Given the description of an element on the screen output the (x, y) to click on. 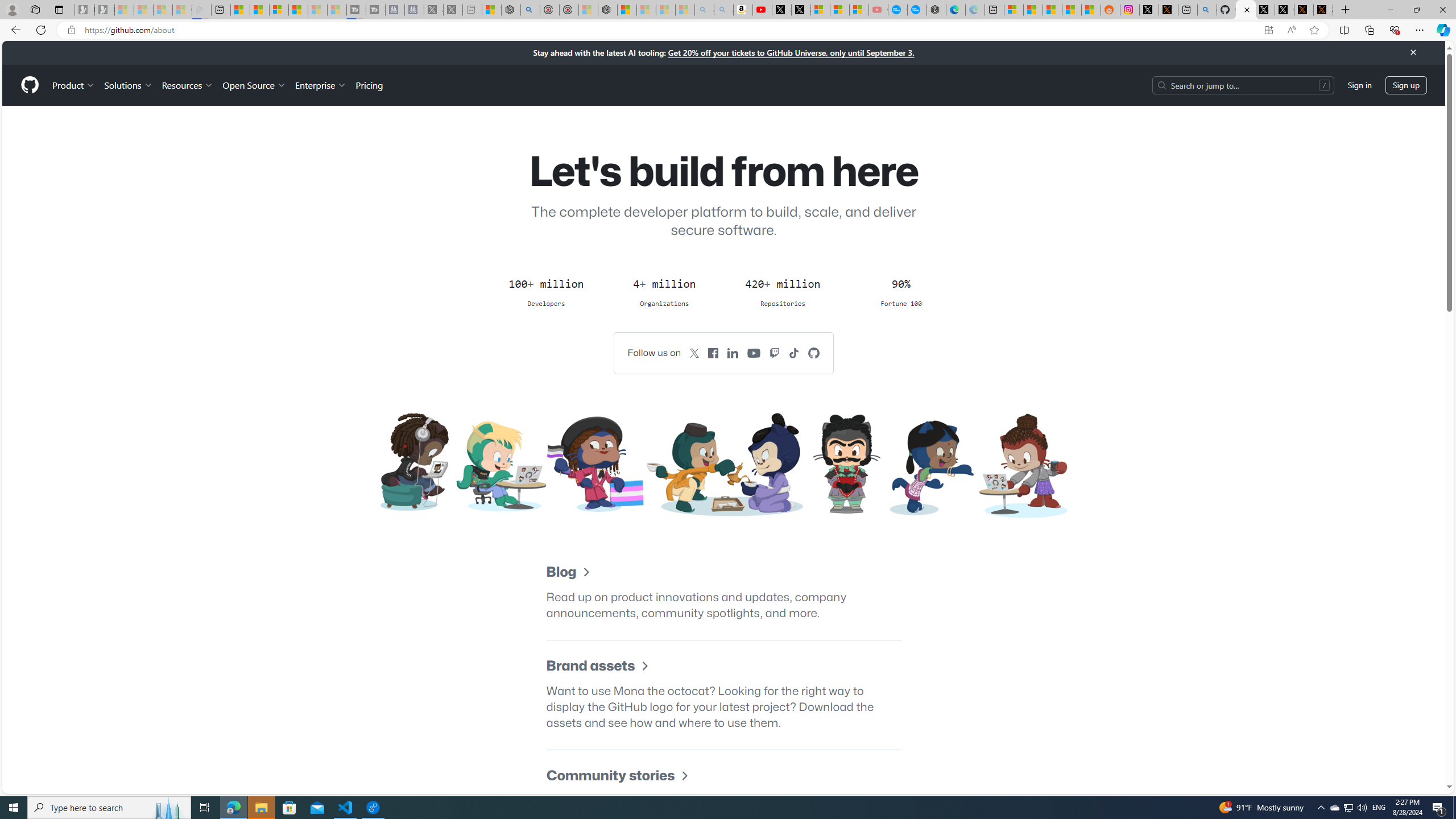
Class: octicon arrow-symbol-mktg (684, 775)
GitHub on Facebook (713, 352)
GitHub on Facebook (713, 352)
Pricing (368, 84)
GitHub on TikTok (794, 352)
